Given the description of an element on the screen output the (x, y) to click on. 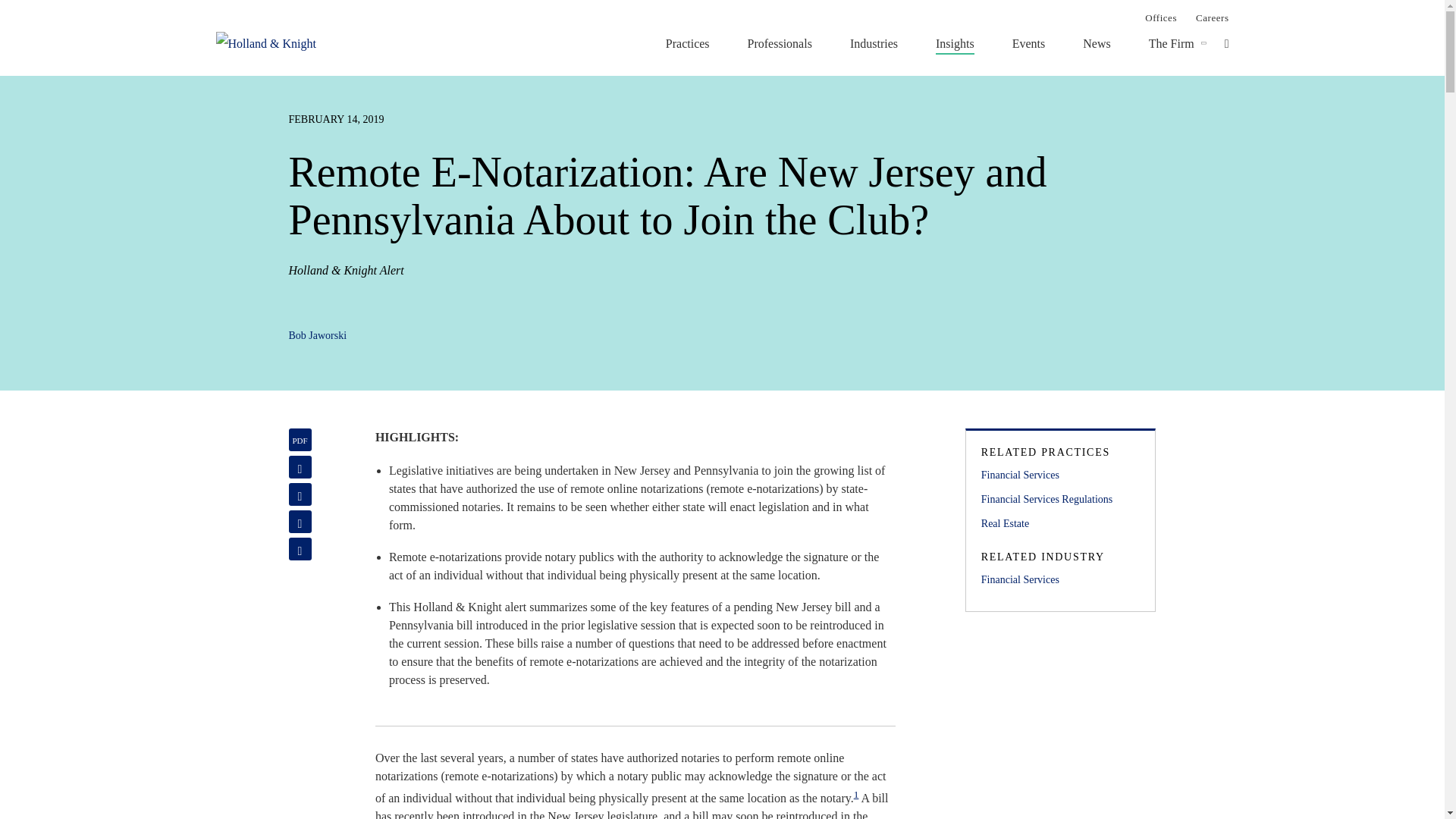
The Firm (1170, 43)
News (1096, 42)
Professionals (780, 42)
Industries (874, 42)
Practices (687, 42)
Offices (1160, 16)
Events (1028, 42)
Insights (955, 42)
Careers (1211, 16)
Bob Jaworski (317, 335)
